Given the description of an element on the screen output the (x, y) to click on. 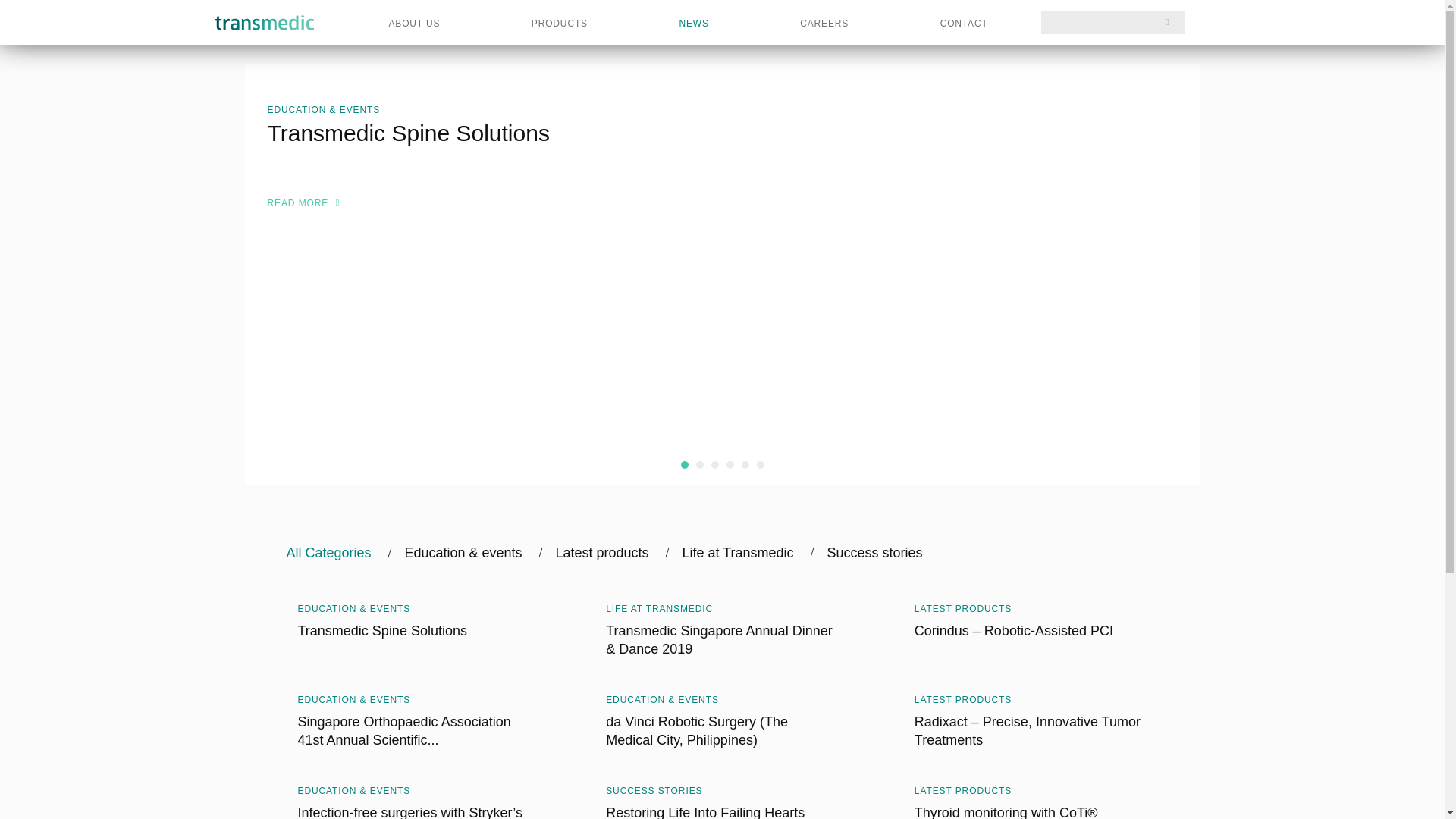
ABOUT US (413, 23)
CAREERS (823, 23)
PRODUCTS (559, 23)
Transmedic Spine Solutions (449, 132)
CONTACT (964, 23)
NEWS (692, 23)
Transmedic - Advancing Medical Technologies (264, 22)
READ MORE (297, 203)
